Given the description of an element on the screen output the (x, y) to click on. 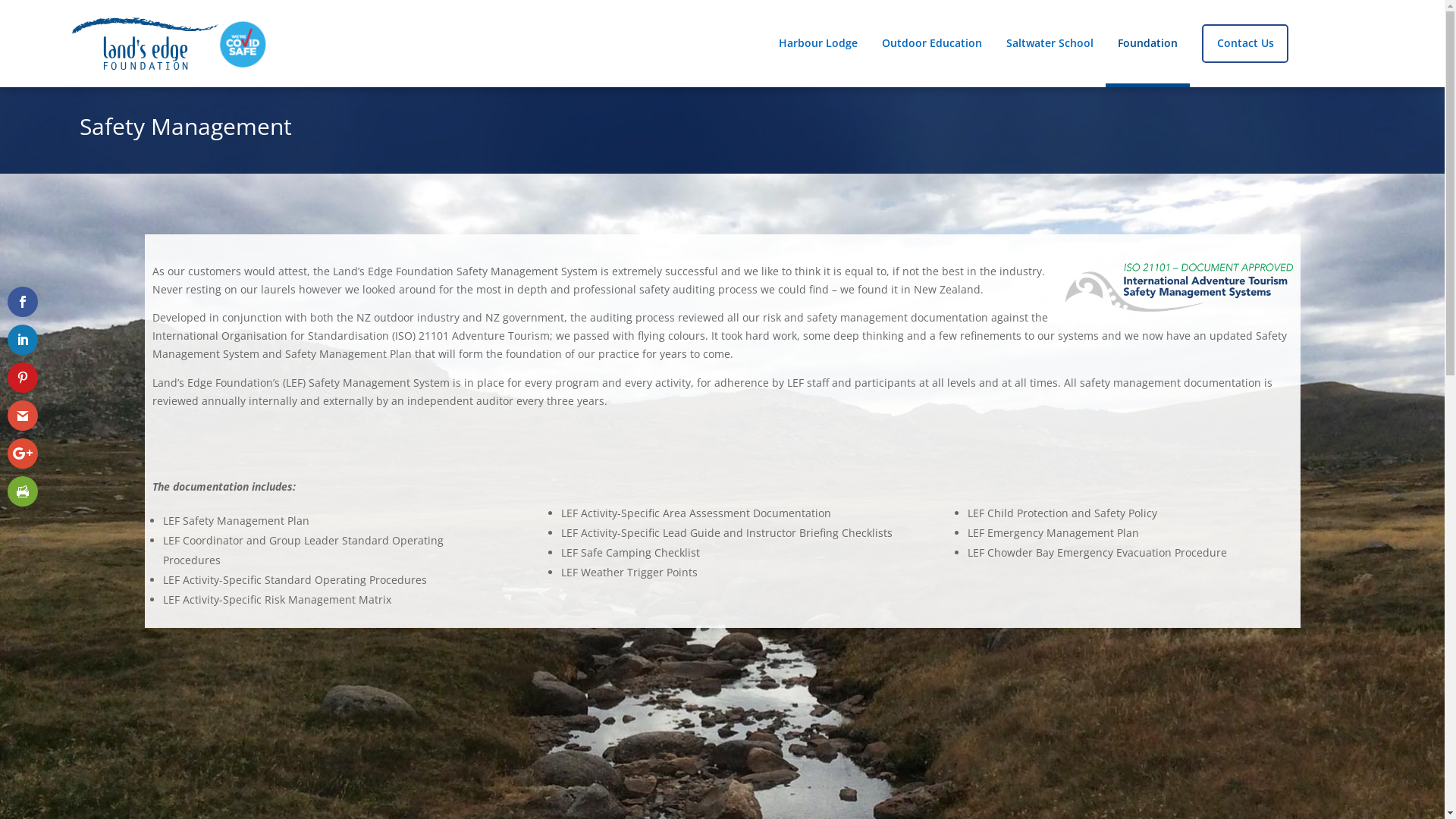
Foundation Element type: text (1147, 43)
Contact Us Element type: text (1244, 43)
Outdoor Education Element type: text (931, 43)
Saltwater School Element type: text (1049, 43)
Harbour Lodge Element type: text (817, 43)
